Given the description of an element on the screen output the (x, y) to click on. 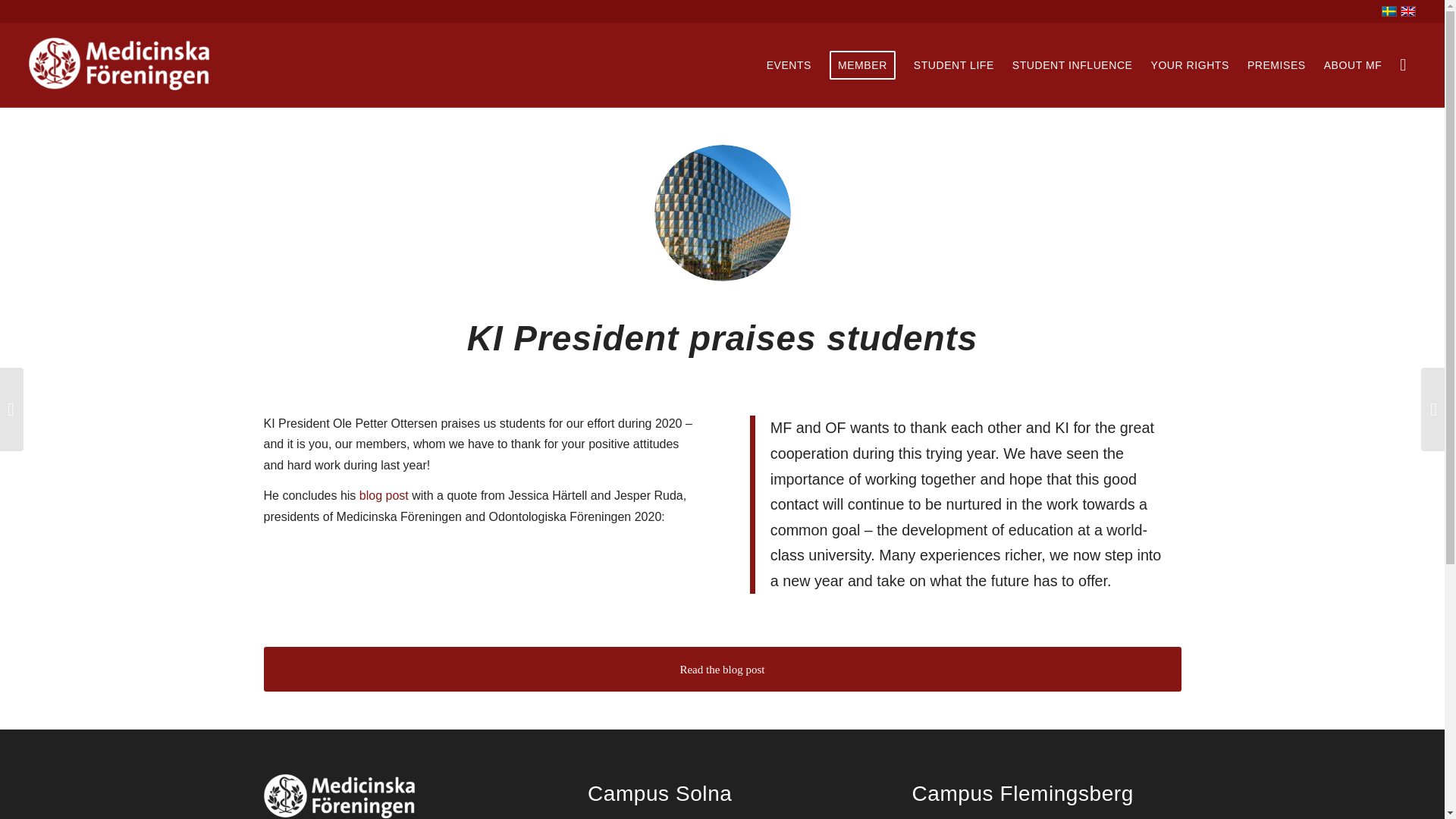
Aula Medica (721, 212)
STUDENT INFLUENCE (1072, 65)
YOUR RIGHTS (1189, 65)
English (1407, 10)
Svenska (1388, 10)
ABOUT MF (1352, 65)
PREMISES (1276, 65)
STUDENT LIFE (953, 65)
MEMBER (862, 65)
